Given the description of an element on the screen output the (x, y) to click on. 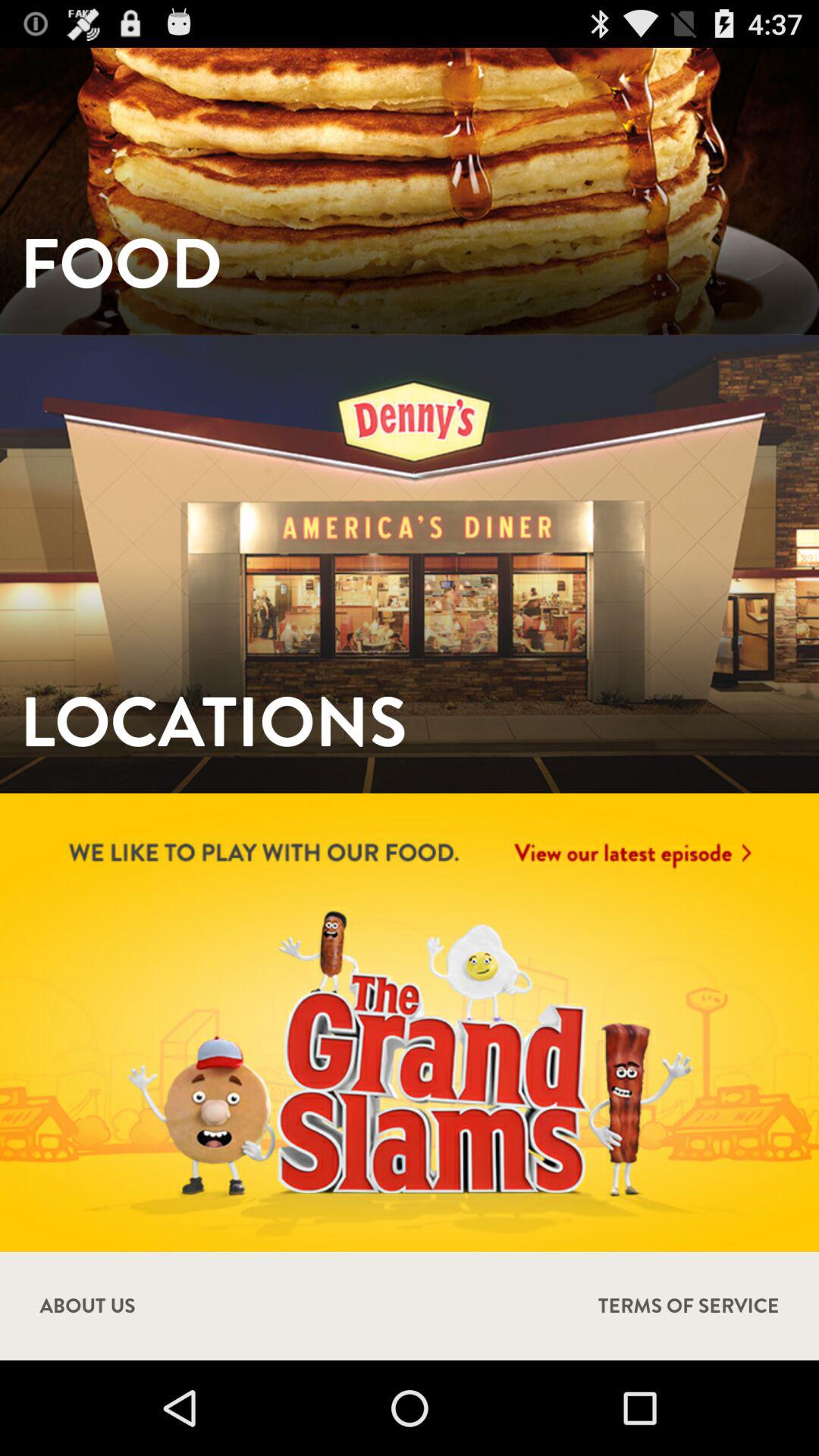
select item at the bottom right corner (688, 1305)
